Given the description of an element on the screen output the (x, y) to click on. 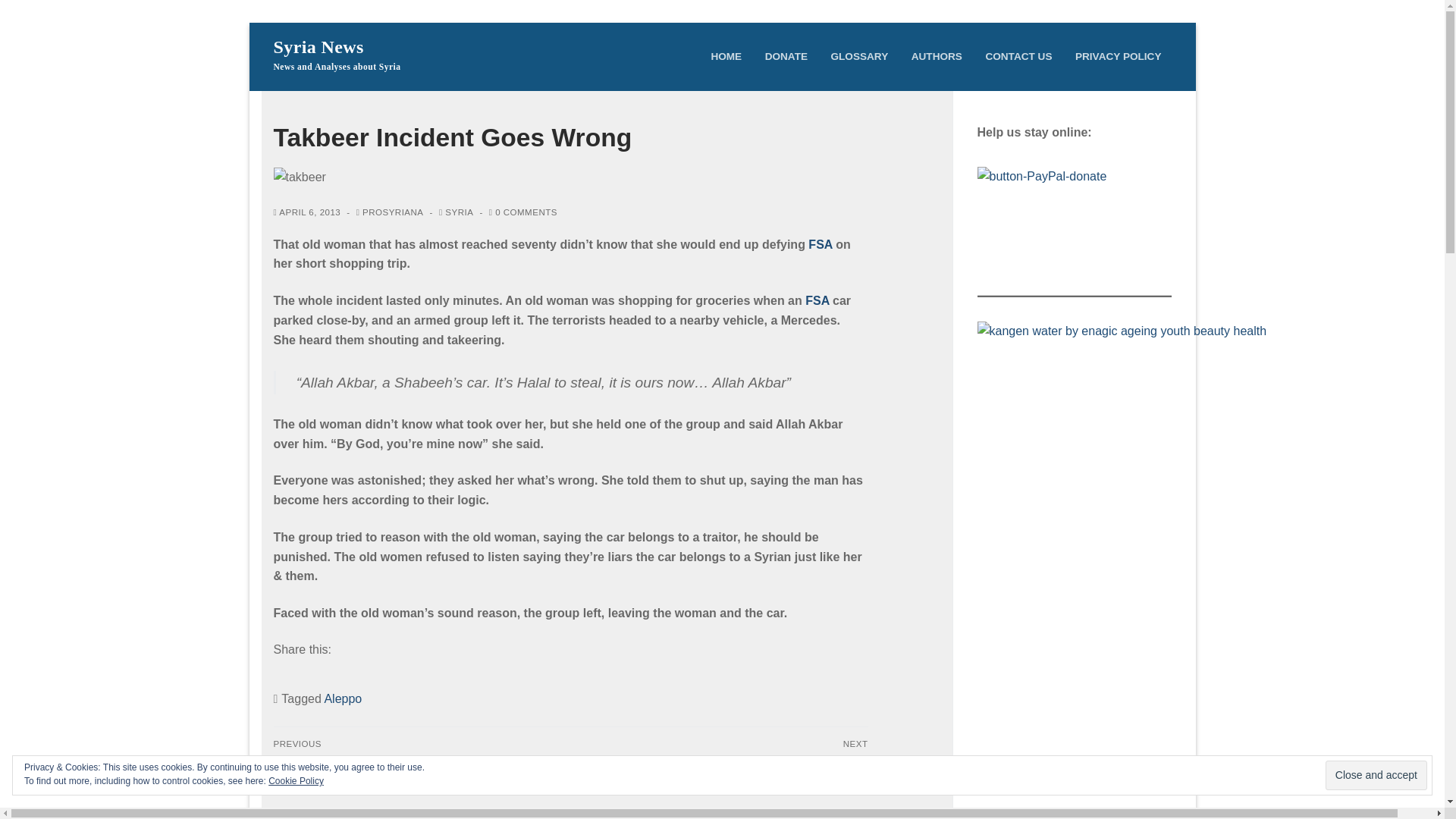
FSA (816, 300)
SYRIA (456, 212)
Syria News (317, 47)
CONTACT US (1018, 56)
HOME (725, 56)
PRIVACY POLICY (1118, 56)
Aleppo (342, 698)
PROSYRIANA (389, 212)
Close and accept (1375, 775)
